Given the description of an element on the screen output the (x, y) to click on. 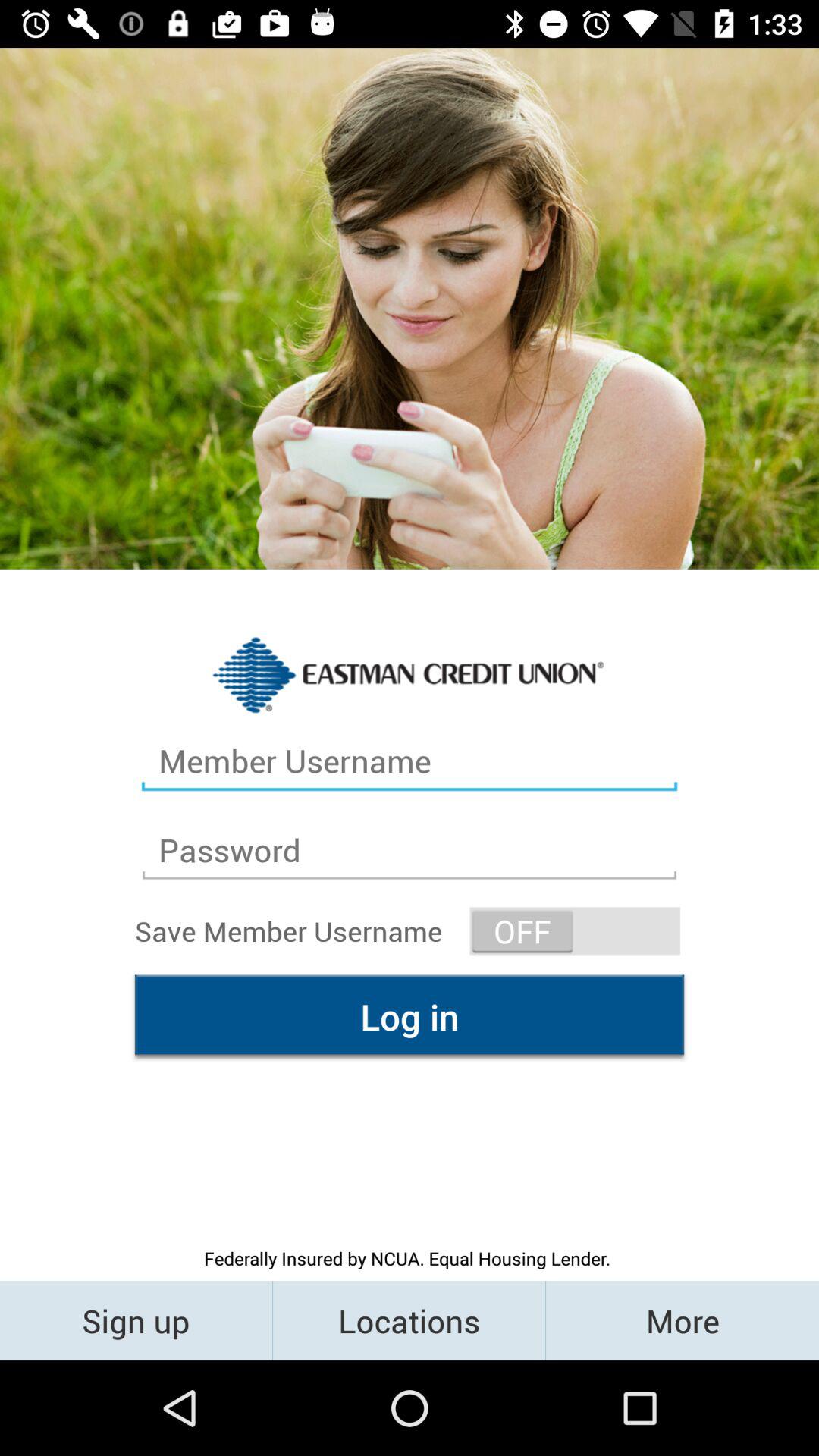
turn on the icon below the federally insured by icon (409, 1320)
